Given the description of an element on the screen output the (x, y) to click on. 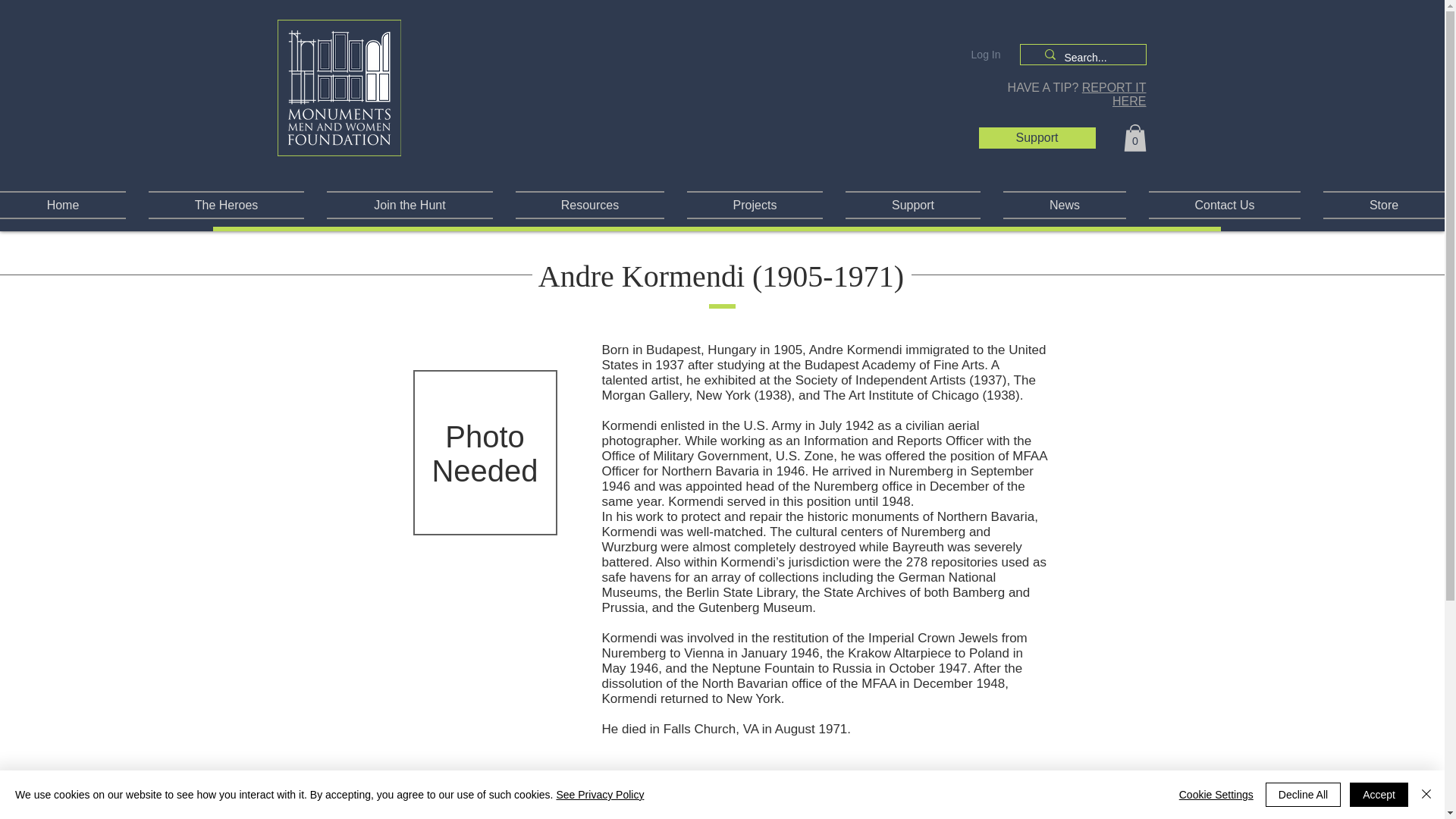
Projects (754, 204)
Support (912, 204)
Home (68, 204)
HAVE A TIP? REPORT IT HERE (1077, 94)
Support (1037, 137)
Log In (985, 55)
Resources (589, 204)
The Heroes (225, 204)
Join the Hunt (409, 204)
